Given the description of an element on the screen output the (x, y) to click on. 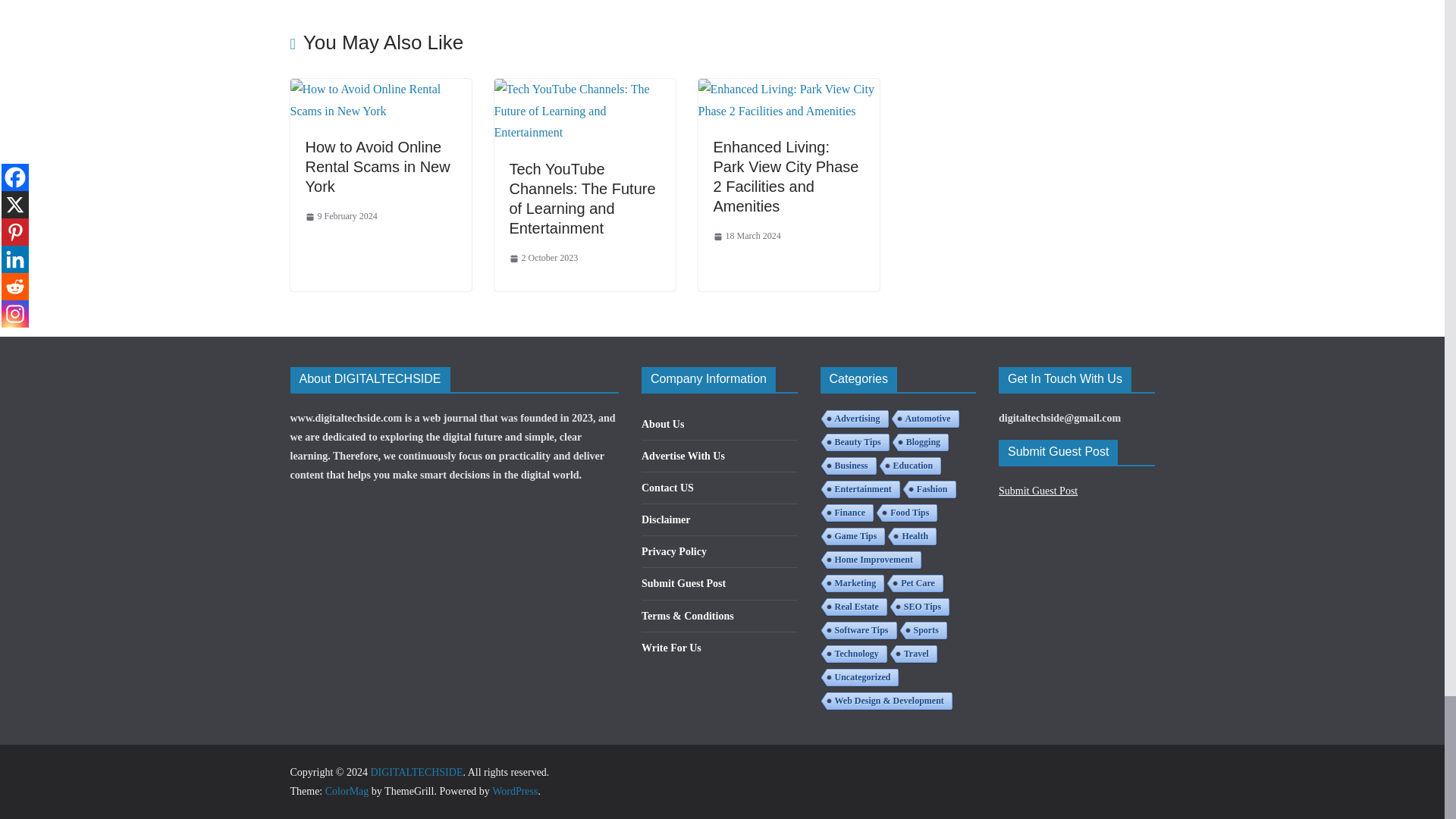
Small Business Ideas: Pioneering the Future of Work (735, 3)
Guest Posting: Your Path to Online Influence Success (432, 3)
